Given the description of an element on the screen output the (x, y) to click on. 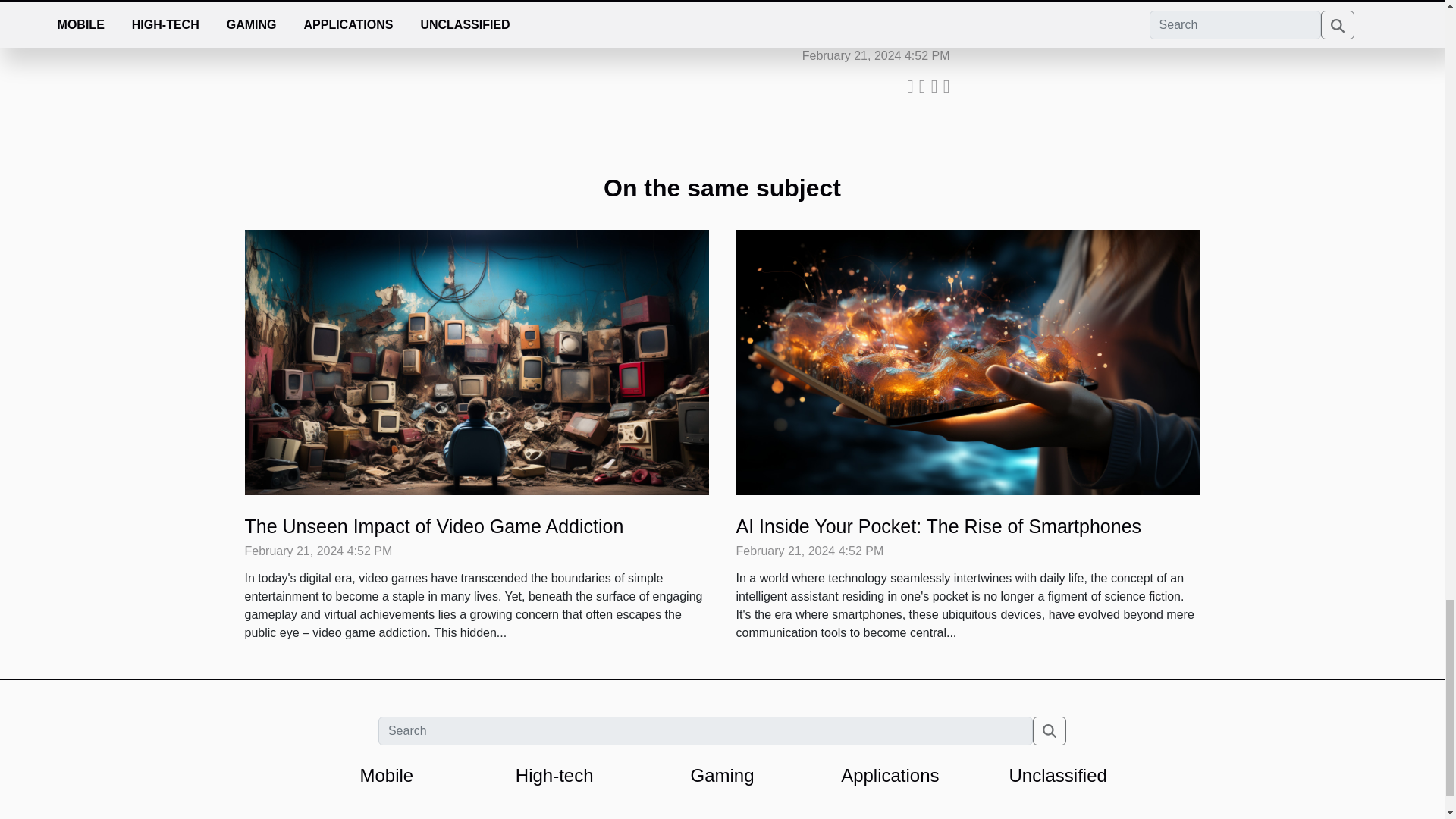
Applications (890, 774)
AI Inside Your Pocket: The Rise of Smartphones (938, 526)
Gaming (722, 774)
High-tech (554, 774)
Gaming (722, 774)
The Unseen Impact of Video Game Addiction (433, 526)
The Unseen Impact of Video Game Addiction (433, 526)
AI Inside Your Pocket: The Rise of Smartphones (938, 526)
Mobile (386, 774)
Applications (890, 774)
High-tech (554, 774)
Unclassified (1057, 774)
The Unseen Impact of Video Game Addiction (475, 361)
Unclassified (1057, 774)
Mobile (386, 774)
